Given the description of an element on the screen output the (x, y) to click on. 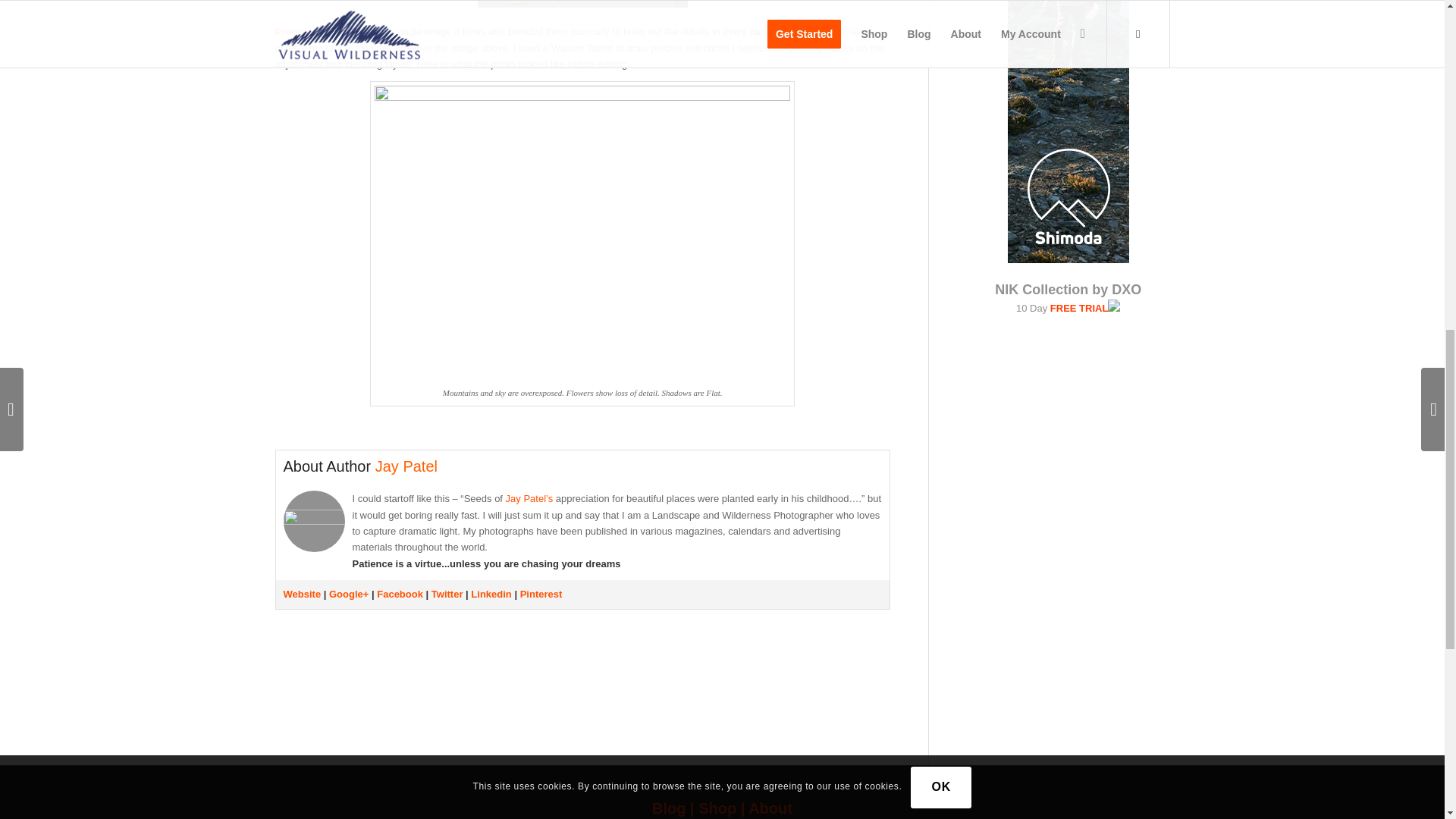
Pinterest (540, 593)
Facebook (400, 593)
Tetons Workflow - Layers (582, 7)
Website (302, 593)
Linkedin (490, 593)
Twitter (446, 593)
Manual Blending Workflow (301, 30)
Processing (301, 30)
Jay Patel (406, 466)
